Given the description of an element on the screen output the (x, y) to click on. 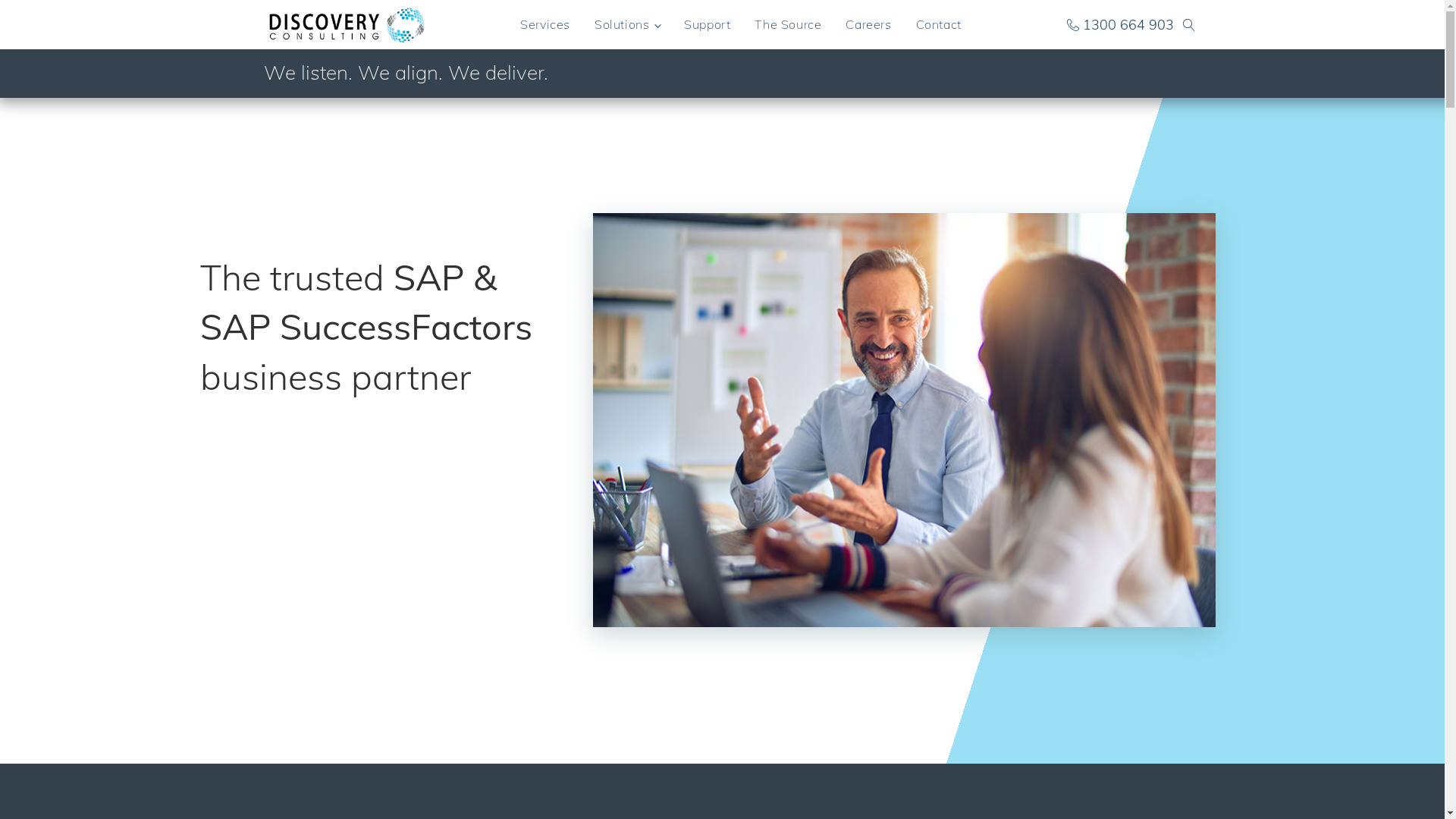
1300 664 903 Element type: text (1119, 24)
Solutions Element type: text (626, 24)
Careers Element type: text (868, 24)
Services Element type: text (545, 24)
The Source Element type: text (787, 24)
Support Element type: text (706, 24)
Submit Element type: text (21, 0)
Contact Element type: text (938, 24)
